Given the description of an element on the screen output the (x, y) to click on. 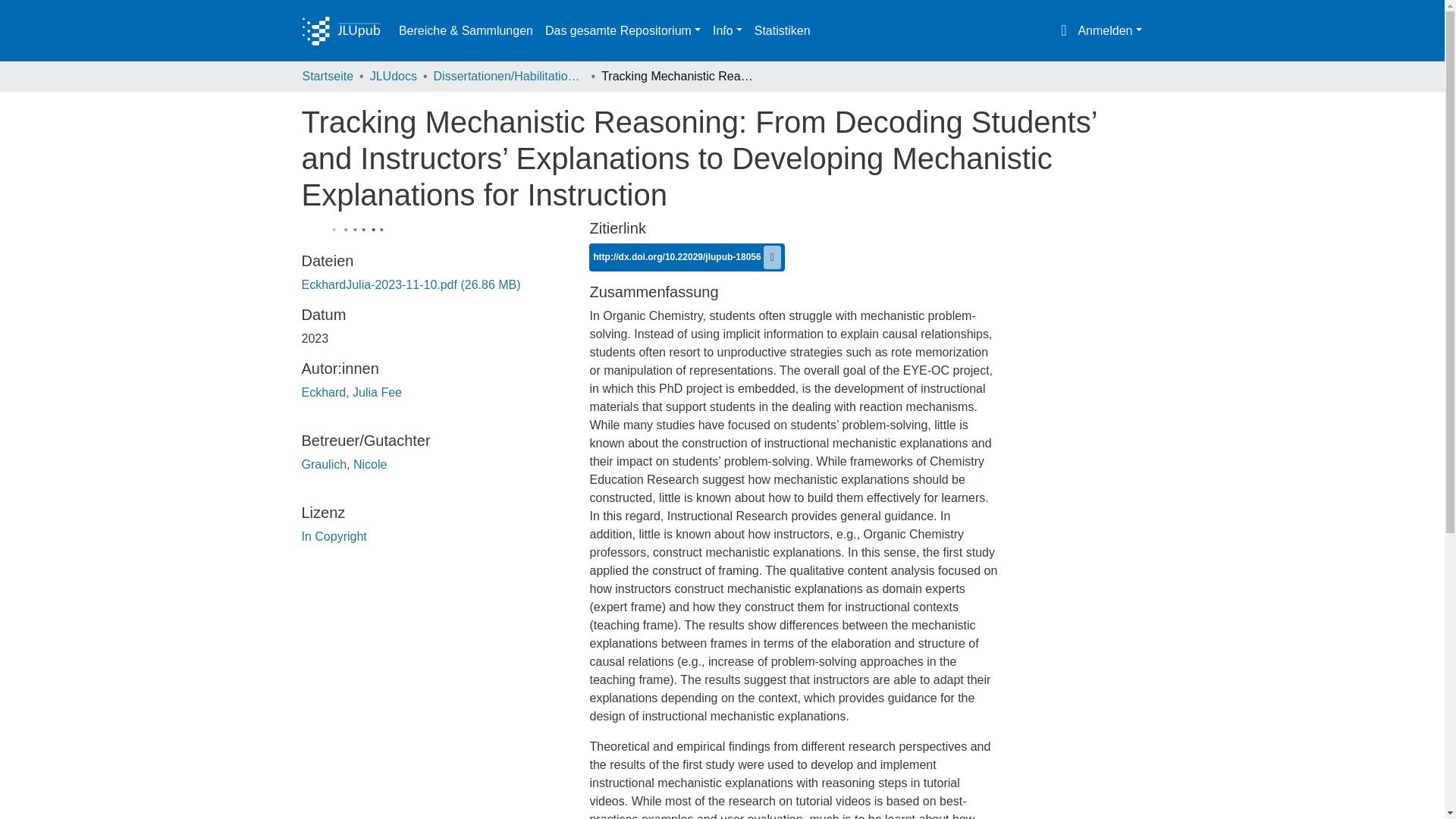
Startseite (327, 76)
Graulich, Nicole (344, 463)
Anmelden (1108, 30)
Eckhard, Julia Fee (352, 391)
In die Zwischenablage kopieren (771, 257)
JLUdocs (392, 76)
Info (727, 30)
Das gesamte Repositorium (622, 30)
Sprachumschalter (1063, 30)
Statistiken (782, 30)
In Copyright (333, 535)
Statistiken (782, 30)
